Given the description of an element on the screen output the (x, y) to click on. 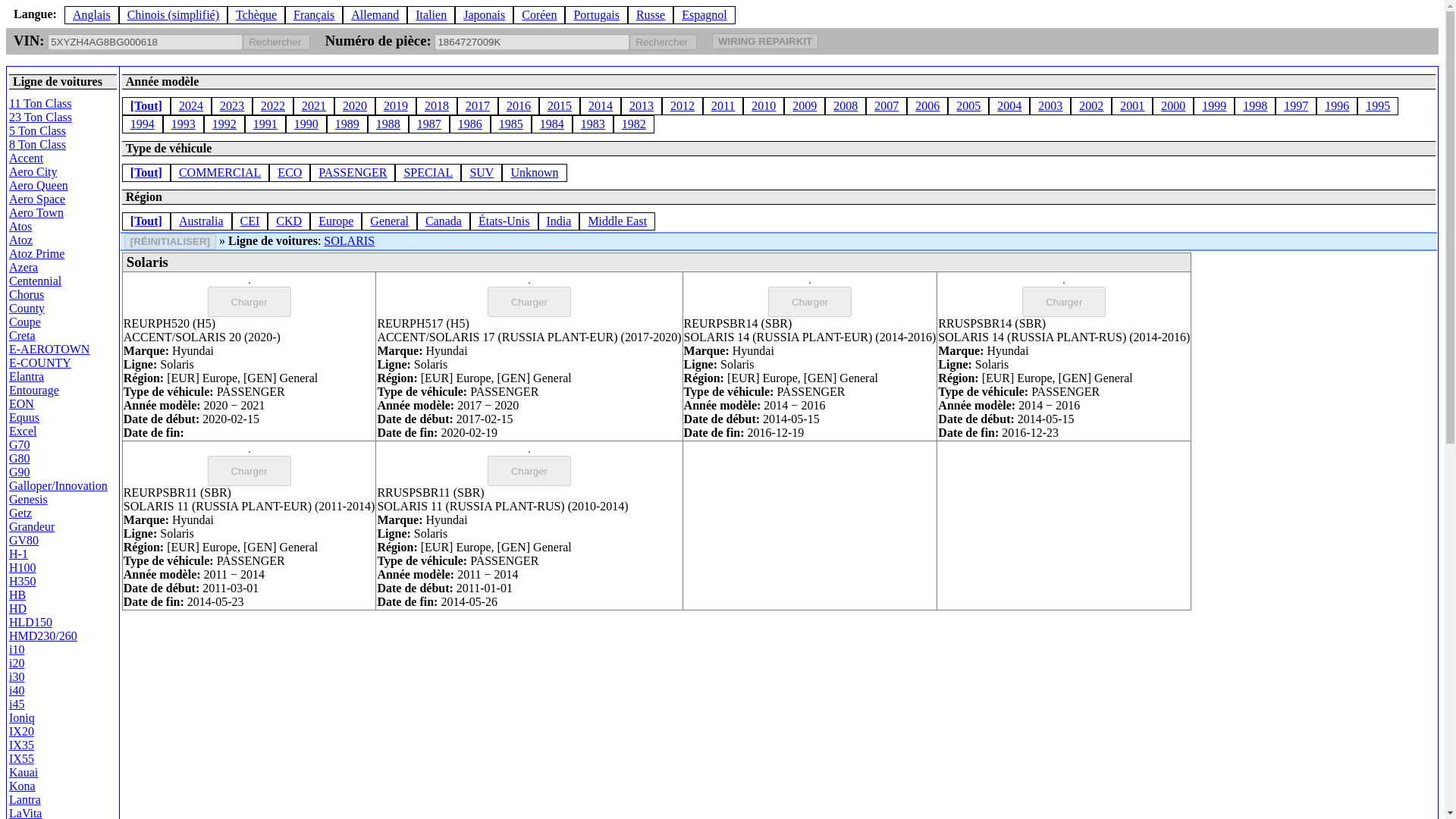
5 Ton Class (36, 130)
Portugais (595, 14)
Coupe (24, 321)
Korean (538, 14)
Atoz (20, 239)
WIRING REPAIRKIT (764, 40)
23 Ton Class (39, 116)
German (374, 14)
Japanese (484, 14)
E-AEROTOWN (48, 349)
Rechercher  (276, 41)
Aero City (33, 171)
1864727009K (530, 41)
Anglais (91, 14)
Allemand (374, 14)
